Given the description of an element on the screen output the (x, y) to click on. 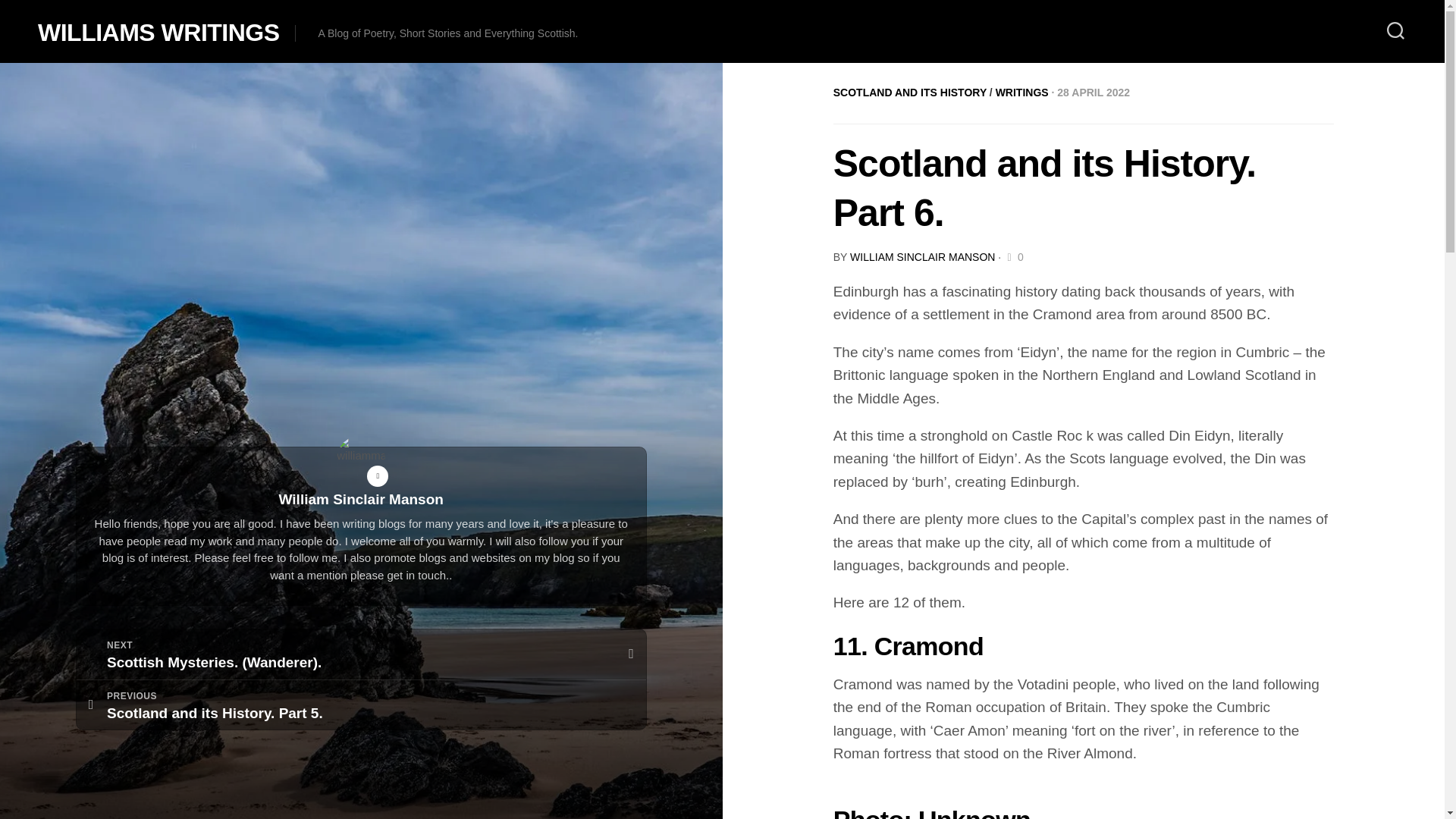
WRITINGS (1021, 92)
SCOTLAND AND ITS HISTORY (909, 92)
WILLIAMS WRITINGS (158, 32)
0 (1013, 256)
Posts by William Sinclair Manson (922, 256)
WILLIAM SINCLAIR MANSON (361, 704)
